Given the description of an element on the screen output the (x, y) to click on. 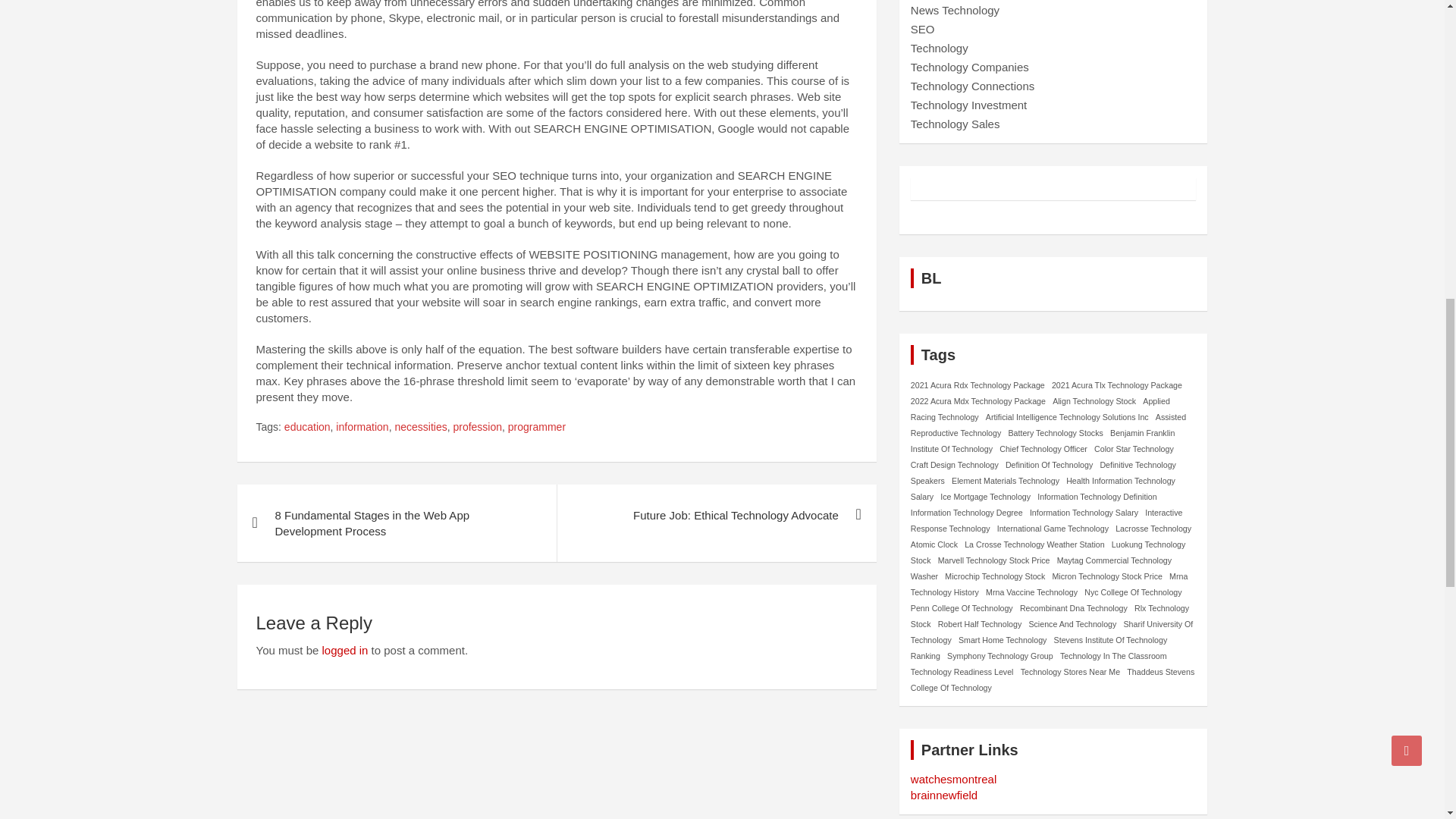
profession (477, 427)
News Technology (954, 10)
necessities (420, 427)
SEO (922, 29)
Technology (939, 47)
Technology Companies (970, 66)
programmer (537, 427)
Future Job: Ethical Technology Advocate (716, 515)
8 Fundamental Stages in the Web App Development Process (395, 522)
education (306, 427)
information (362, 427)
logged in (344, 649)
